Given the description of an element on the screen output the (x, y) to click on. 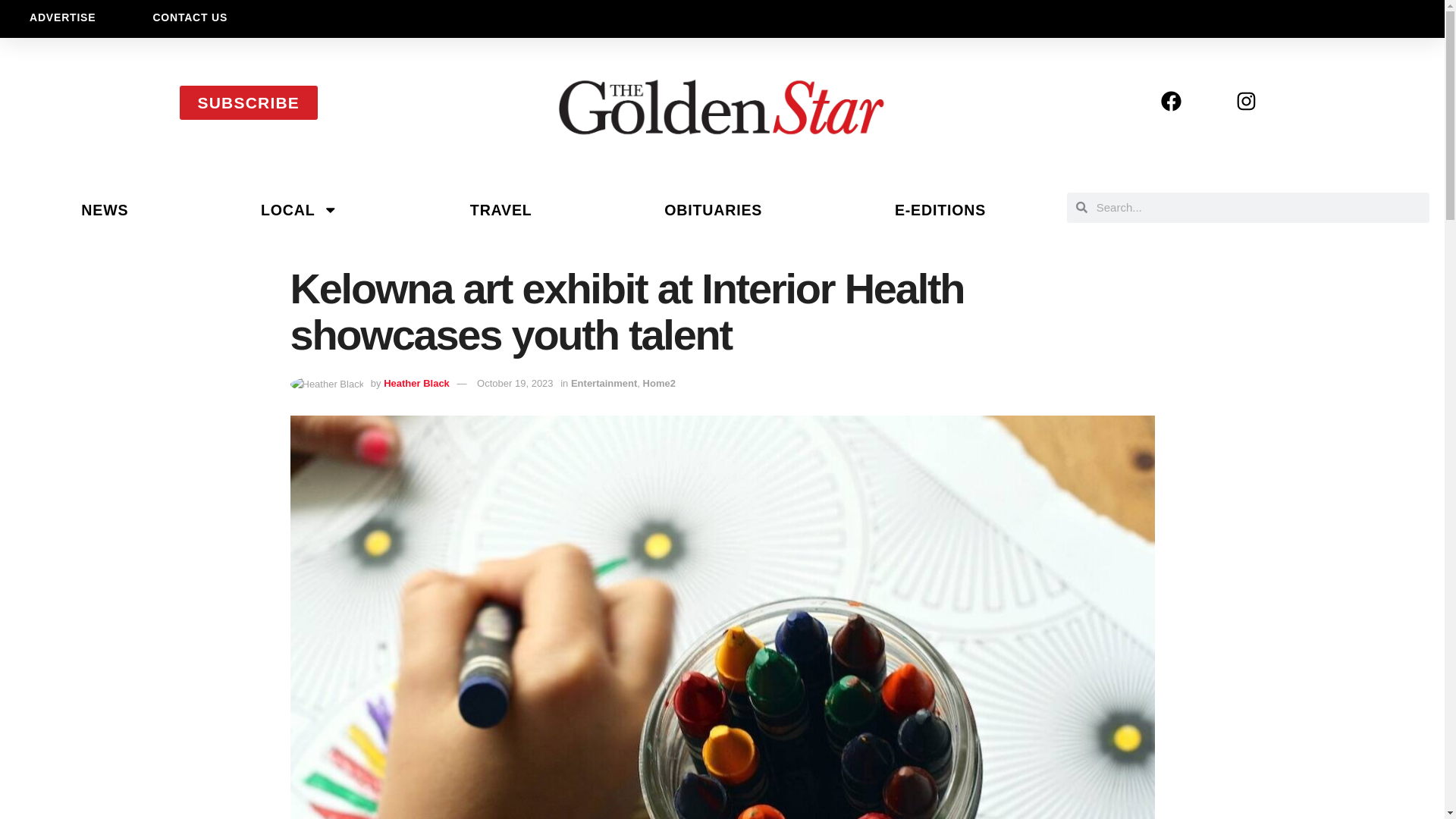
TRAVEL (499, 209)
E-EDITIONS (940, 209)
October 19, 2023 (515, 383)
ADVERTISE (62, 17)
Entertainment (603, 383)
OBITUARIES (713, 209)
SUBSCRIBE (248, 102)
Home2 (659, 383)
CONTACT US (189, 17)
LOCAL (299, 209)
